Given the description of an element on the screen output the (x, y) to click on. 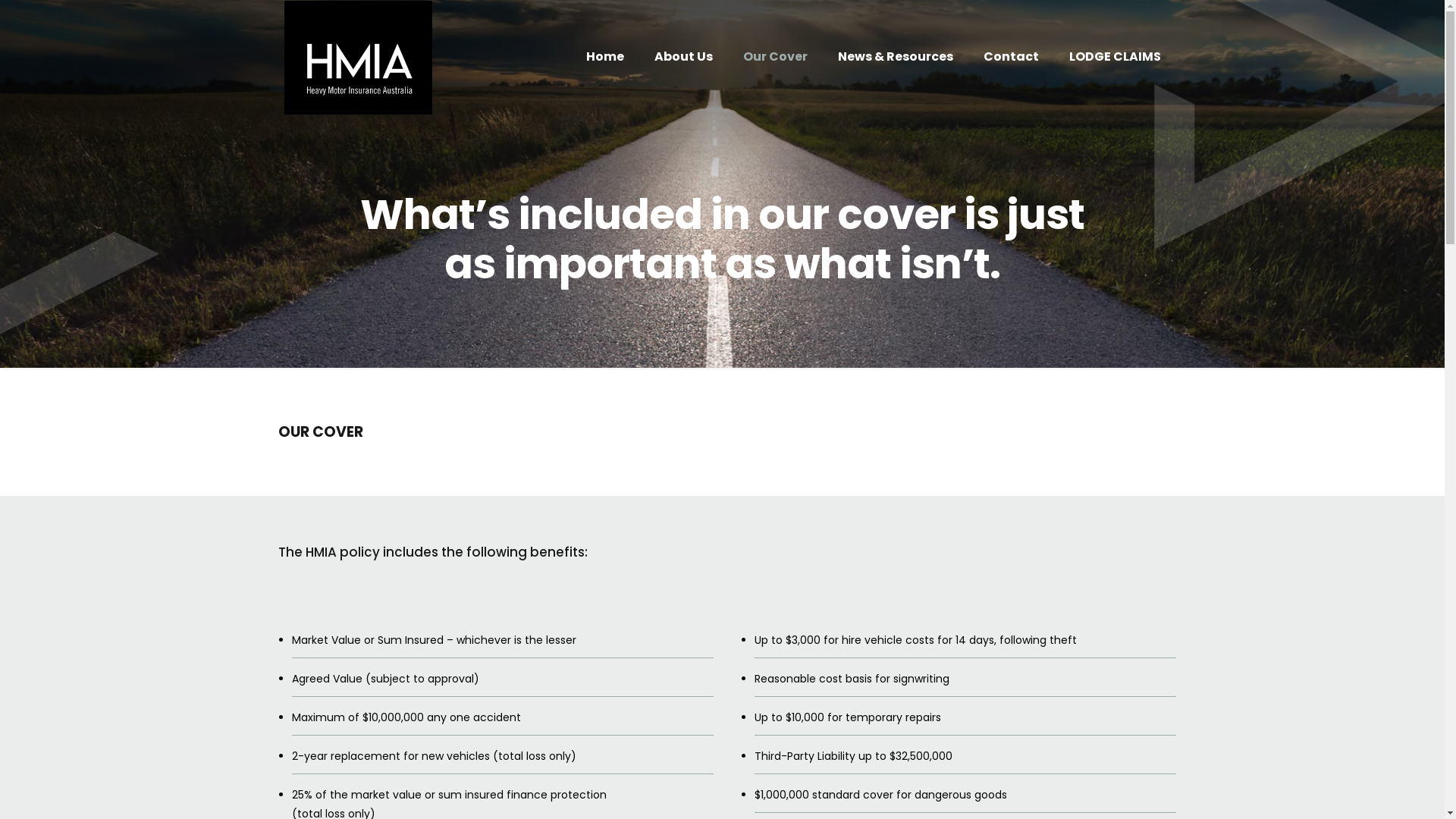
Contact Element type: text (1010, 56)
LODGE CLAIMS Element type: text (1115, 56)
News & Resources Element type: text (894, 56)
Our Cover Element type: text (775, 56)
Home Element type: text (604, 56)
HMIA Element type: hover (357, 56)
About Us Element type: text (682, 56)
